Given the description of an element on the screen output the (x, y) to click on. 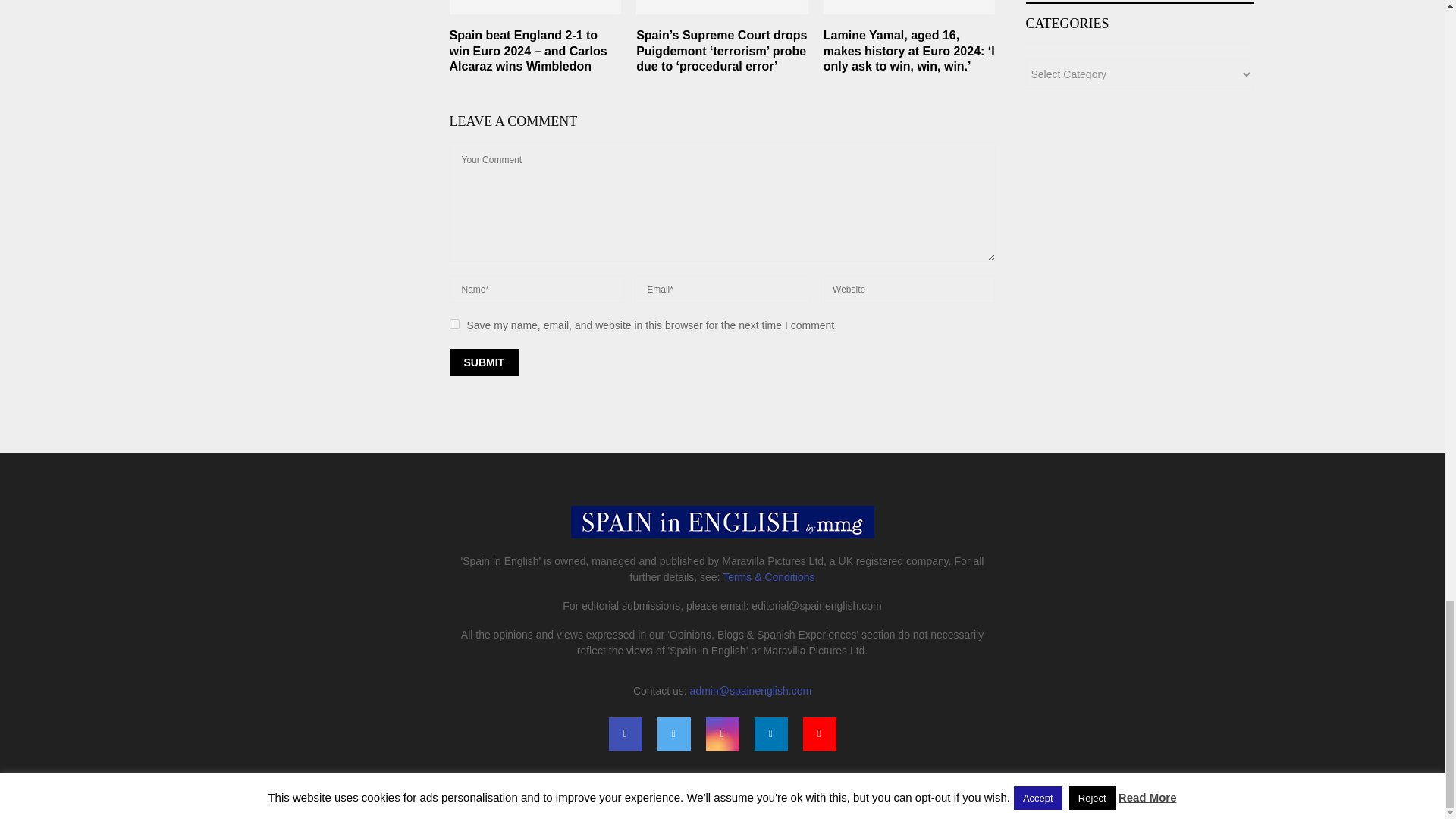
yes (453, 324)
Submit (483, 361)
